Given the description of an element on the screen output the (x, y) to click on. 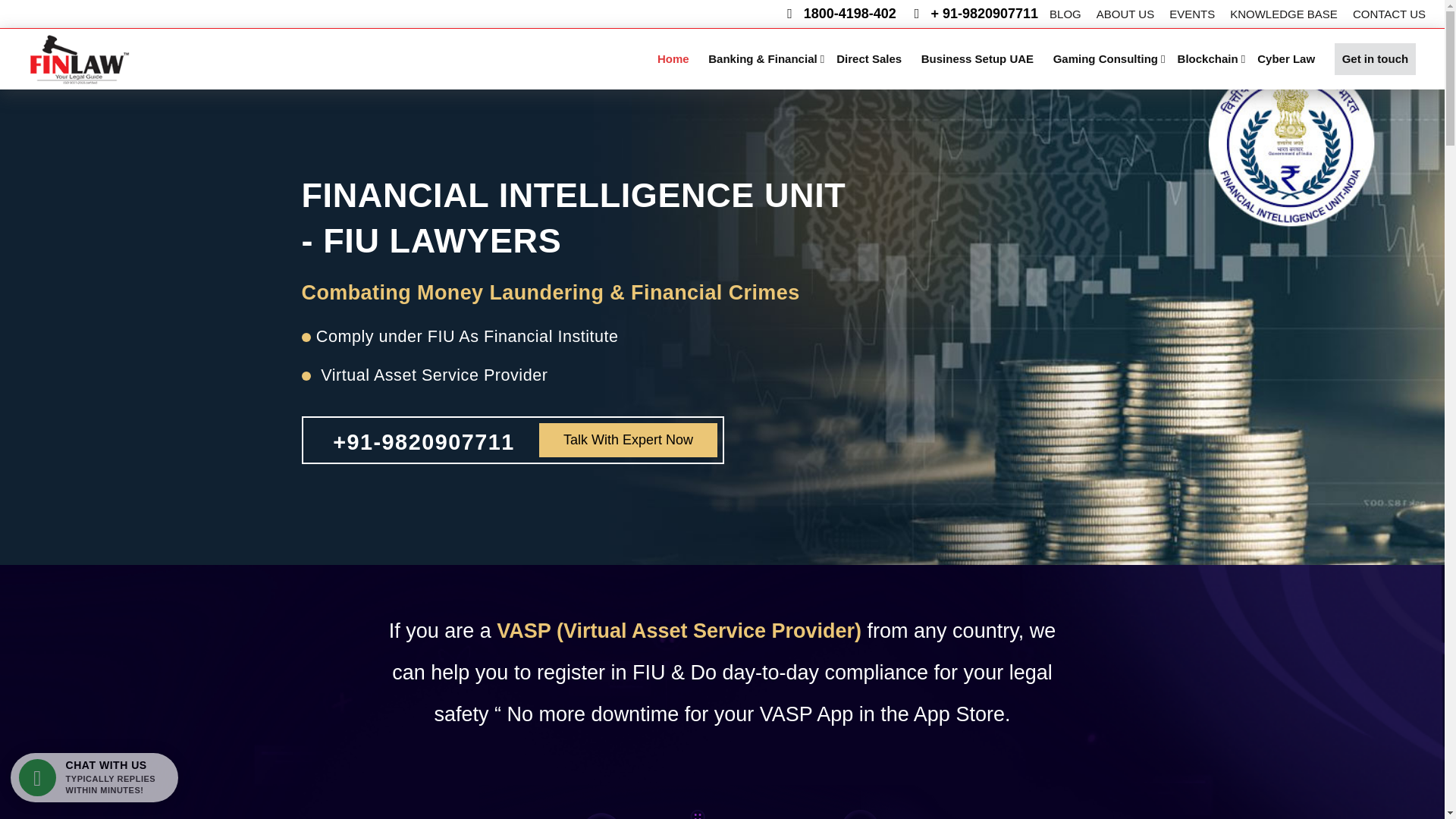
CONTACT US (1388, 13)
Cyber Law (1285, 58)
Gaming Consulting (1104, 58)
Business Setup UAE (977, 58)
Direct Sales (868, 58)
BLOG (1065, 13)
Get in touch (1375, 58)
Home (673, 58)
ABOUT US (1125, 13)
EVENTS (1192, 13)
KNOWLEDGE BASE (1284, 13)
Blockchain (1208, 58)
